Given the description of an element on the screen output the (x, y) to click on. 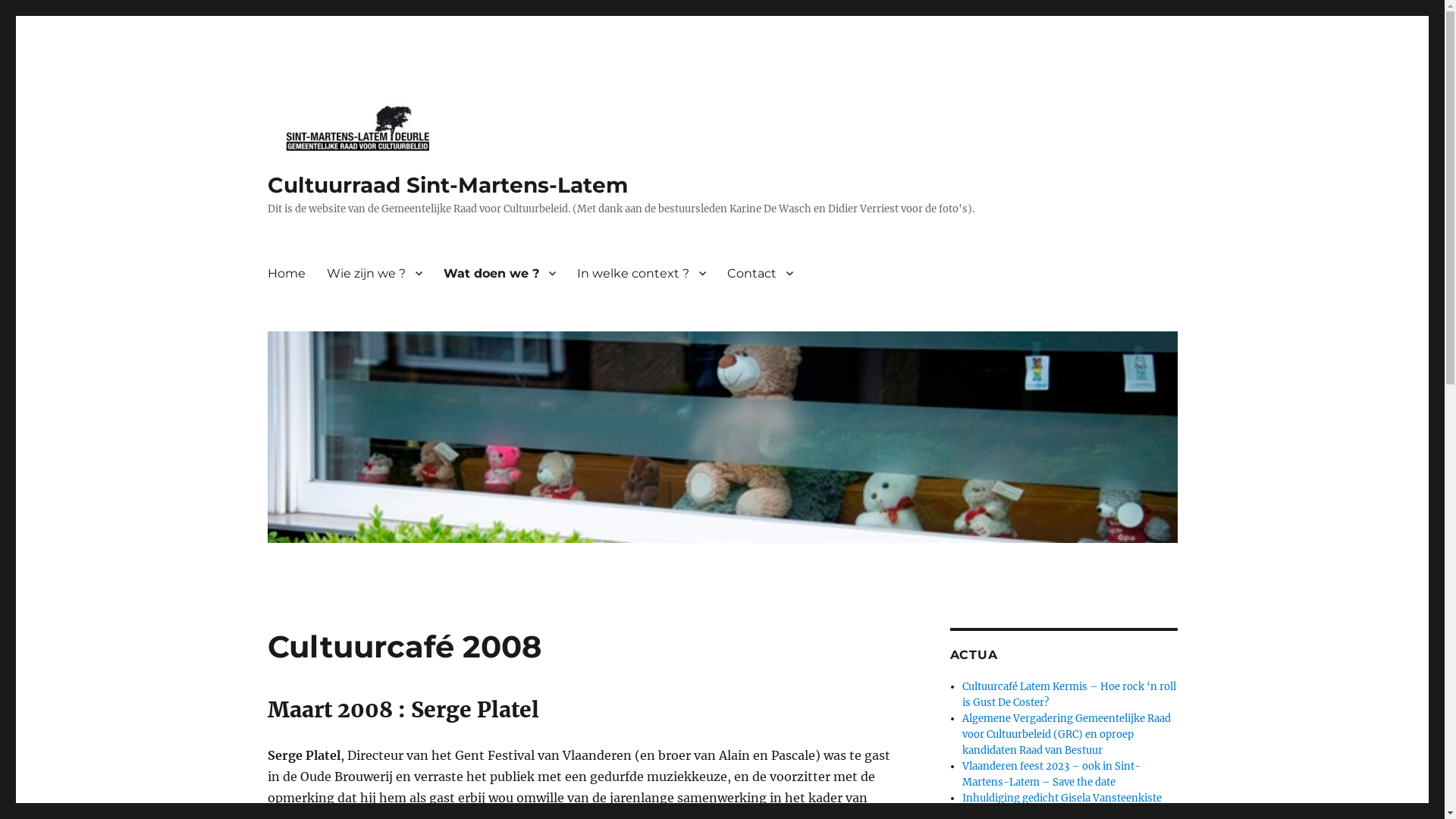
Wat doen we ? Element type: text (498, 272)
Wie zijn we ? Element type: text (373, 272)
Cultuurraad Sint-Martens-Latem Element type: text (446, 184)
Home Element type: text (285, 272)
Inhuldiging gedicht Gisela Vansteenkiste Element type: text (1061, 797)
In welke context ? Element type: text (640, 272)
Contact Element type: text (759, 272)
